Given the description of an element on the screen output the (x, y) to click on. 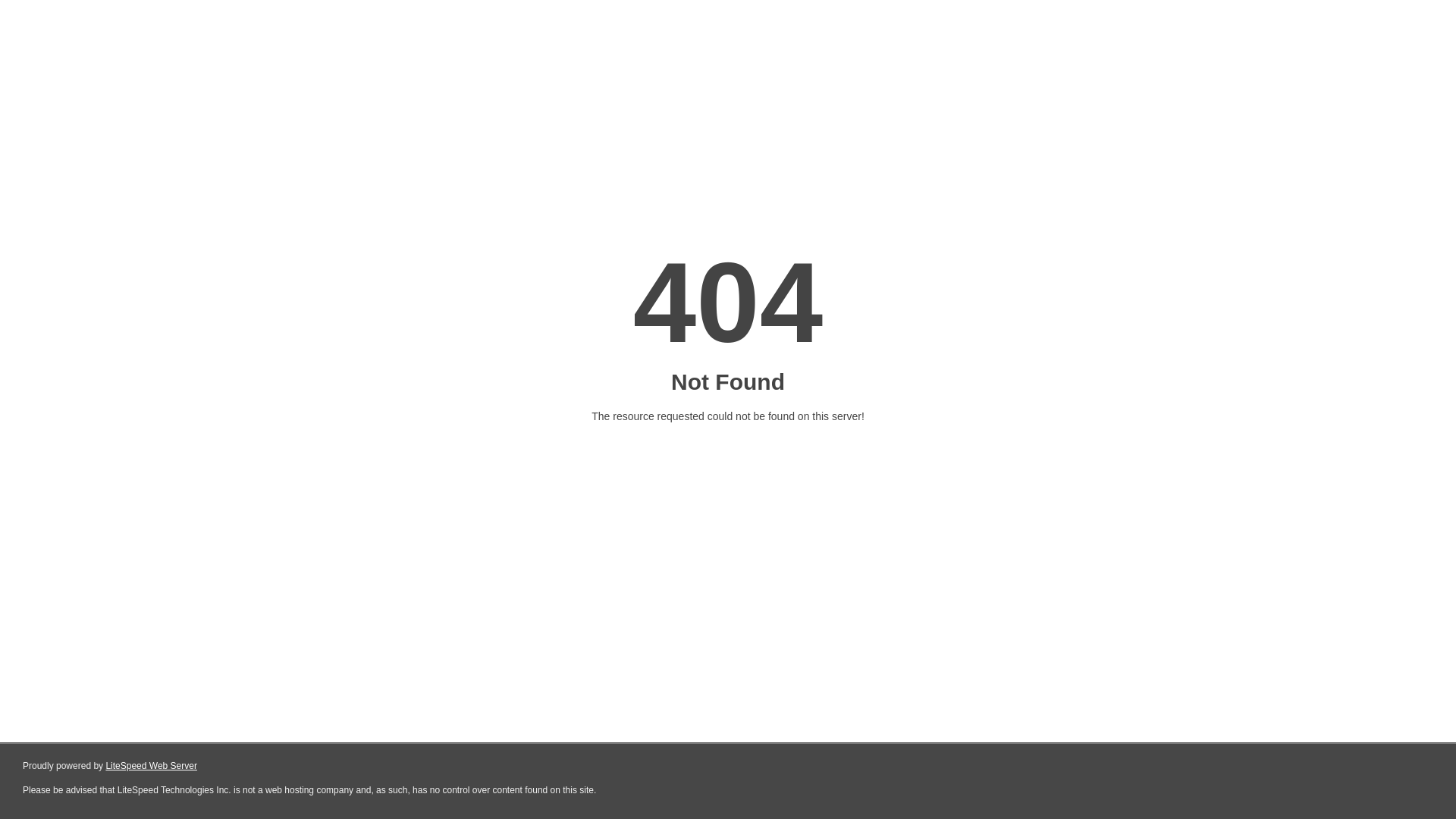
LiteSpeed Web Server Element type: text (151, 765)
